Given the description of an element on the screen output the (x, y) to click on. 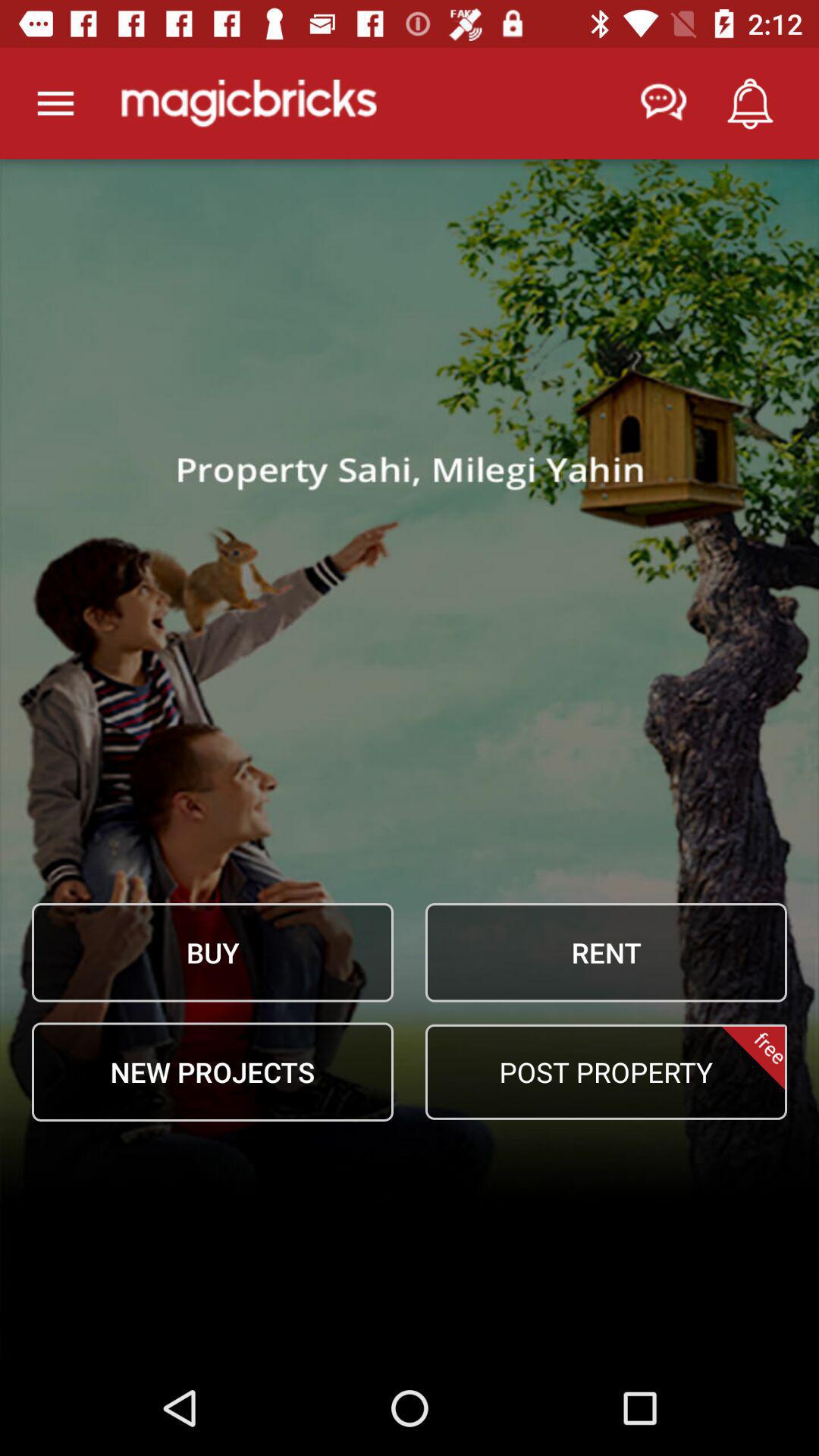
choose icon to the left of rent item (212, 952)
